Given the description of an element on the screen output the (x, y) to click on. 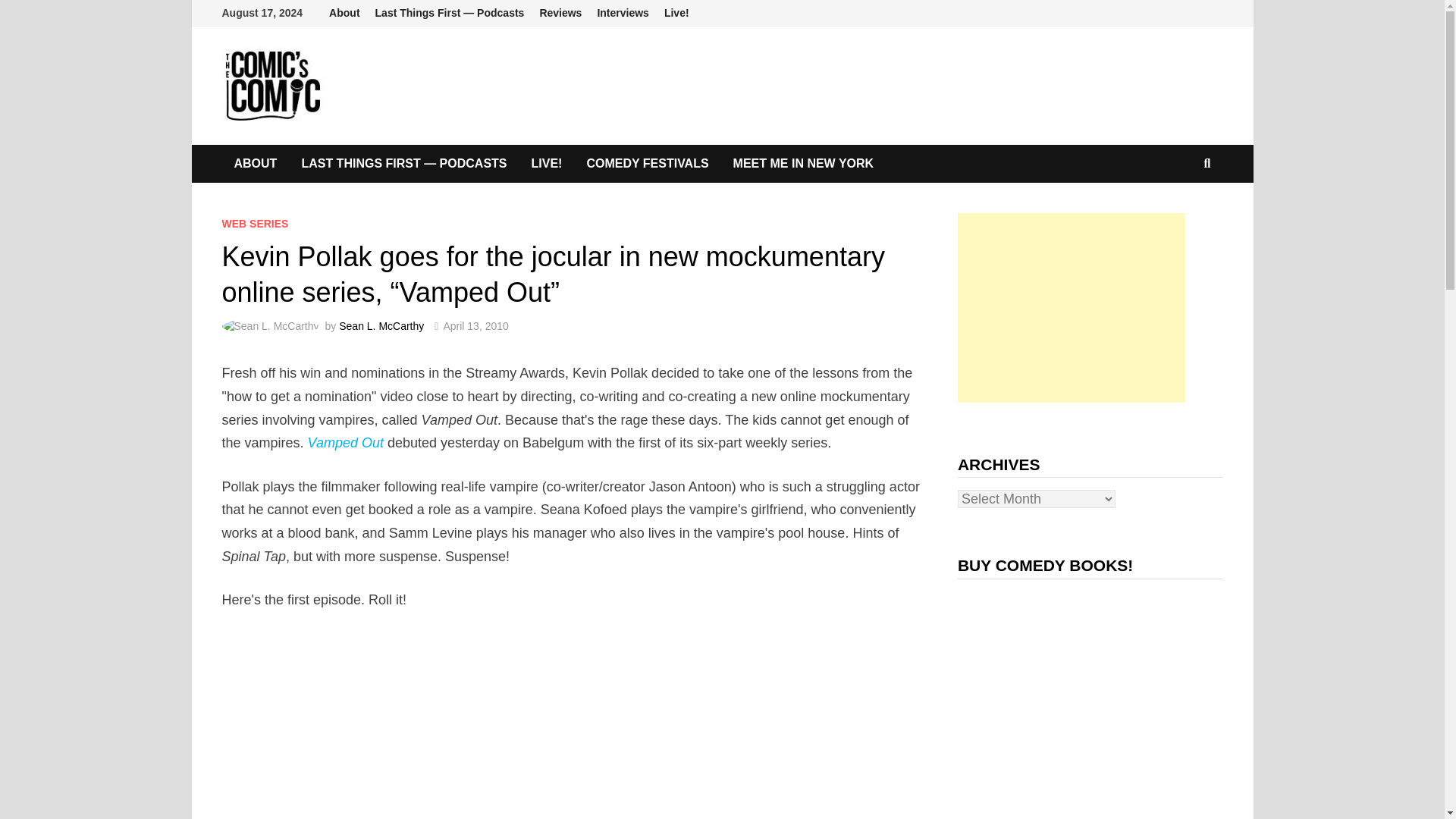
Reviews (560, 13)
WEB SERIES (254, 223)
COMEDY FESTIVALS (646, 163)
April 13, 2010 (475, 326)
About (343, 13)
Sean L. McCarthy (381, 326)
MEET ME IN NEW YORK (803, 163)
Vamped Out (345, 442)
Live! (676, 13)
ABOUT (254, 163)
